Given the description of an element on the screen output the (x, y) to click on. 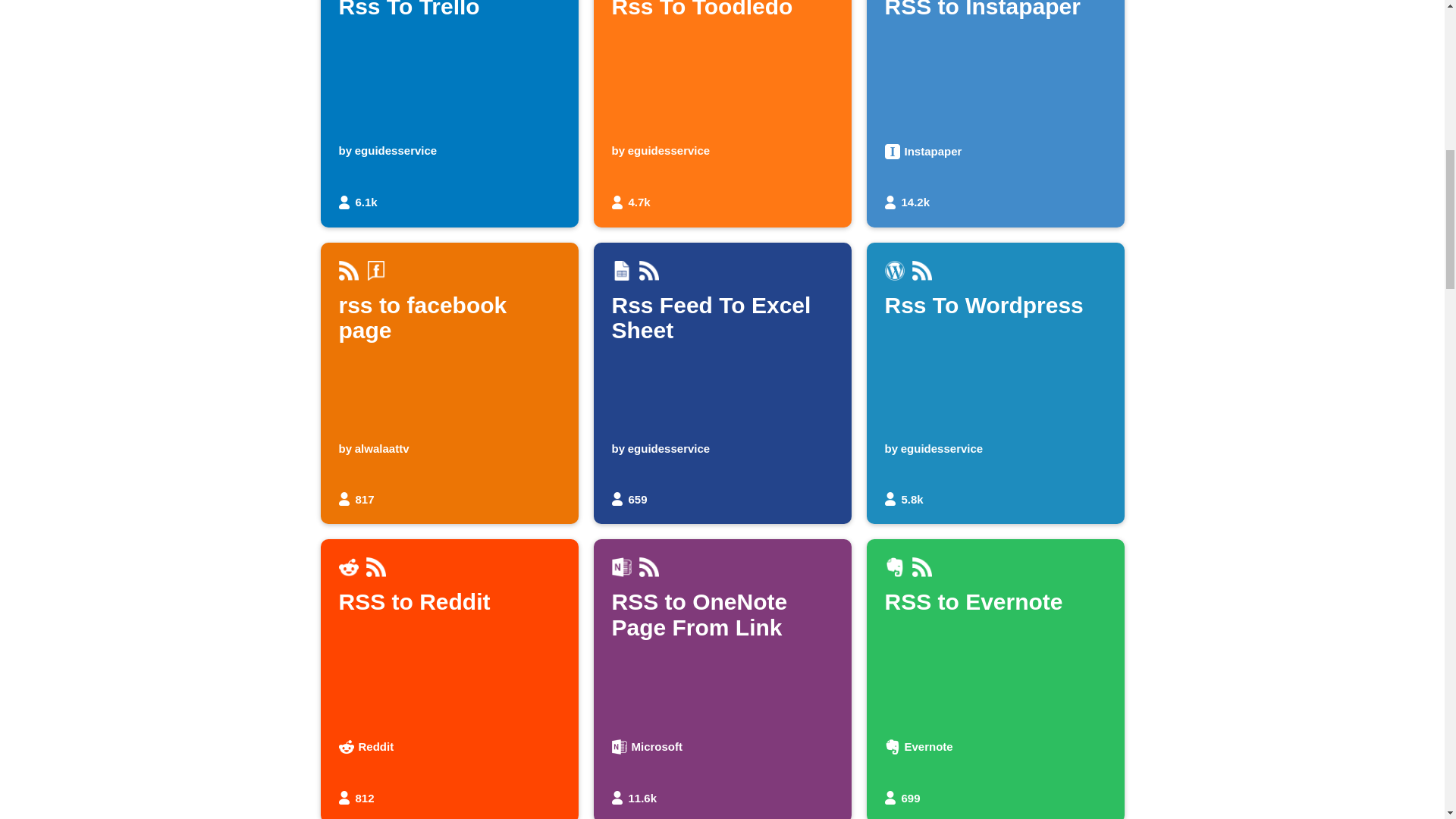
6.1k users enabled this Applet (995, 383)
